Given the description of an element on the screen output the (x, y) to click on. 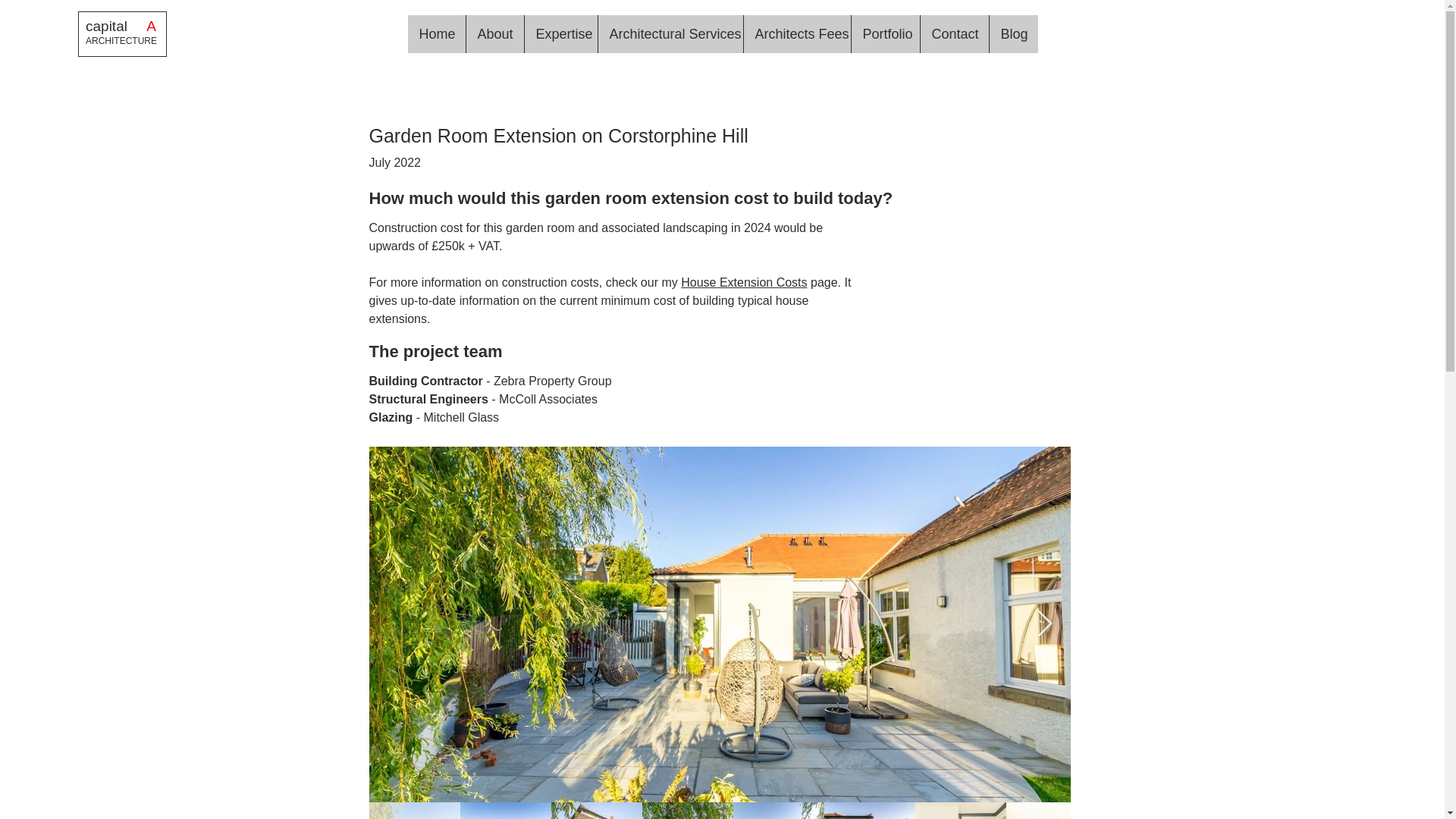
Portfolio (885, 34)
About (494, 34)
Architects Fees (796, 34)
Blog (1013, 34)
Home (436, 34)
Contact (953, 34)
capital     A  (121, 26)
Expertise (559, 34)
The project team (435, 351)
